Given the description of an element on the screen output the (x, y) to click on. 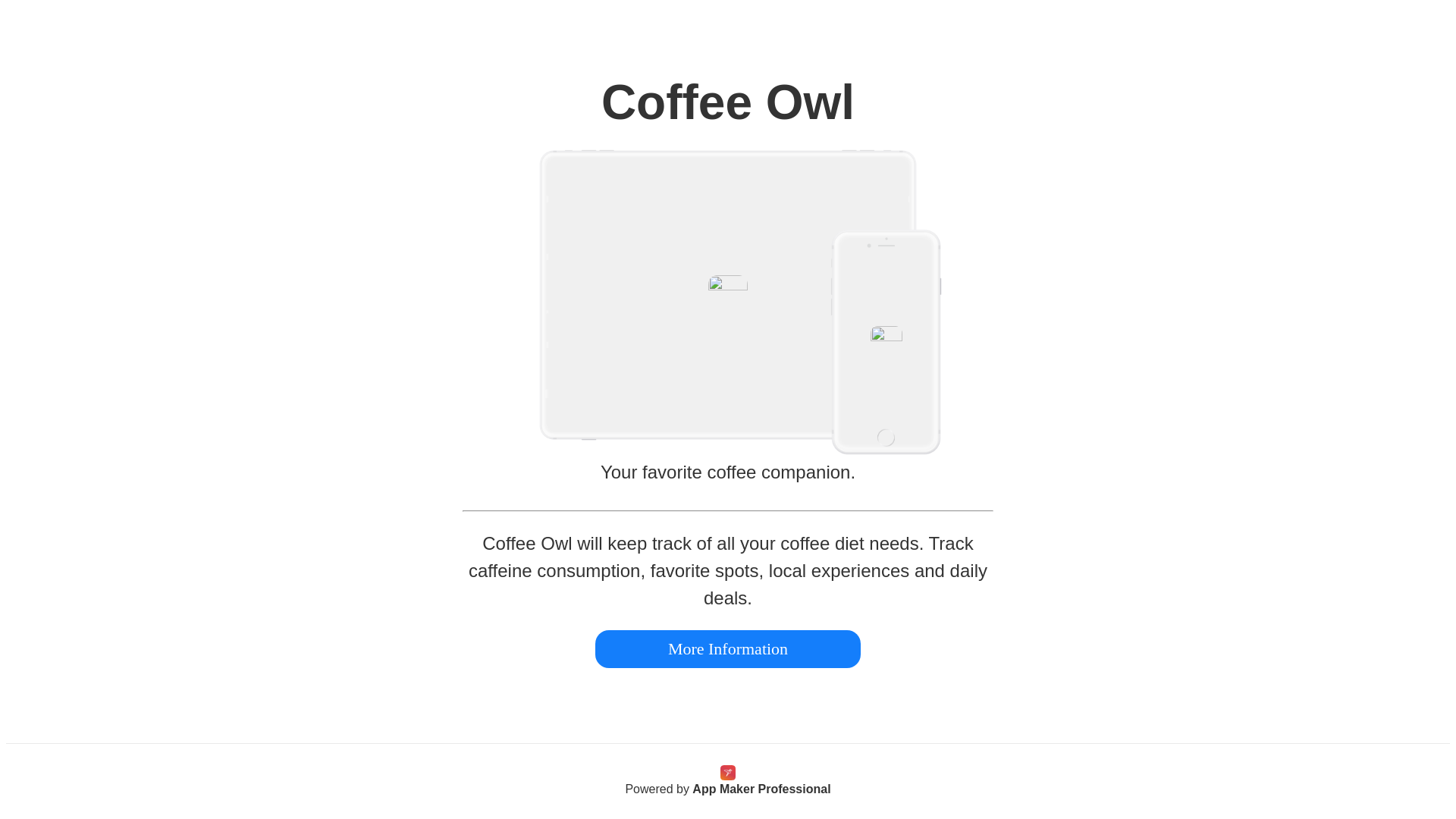
More Information Element type: text (727, 649)
Powered by 
App Maker Professional Element type: text (727, 788)
